Given the description of an element on the screen output the (x, y) to click on. 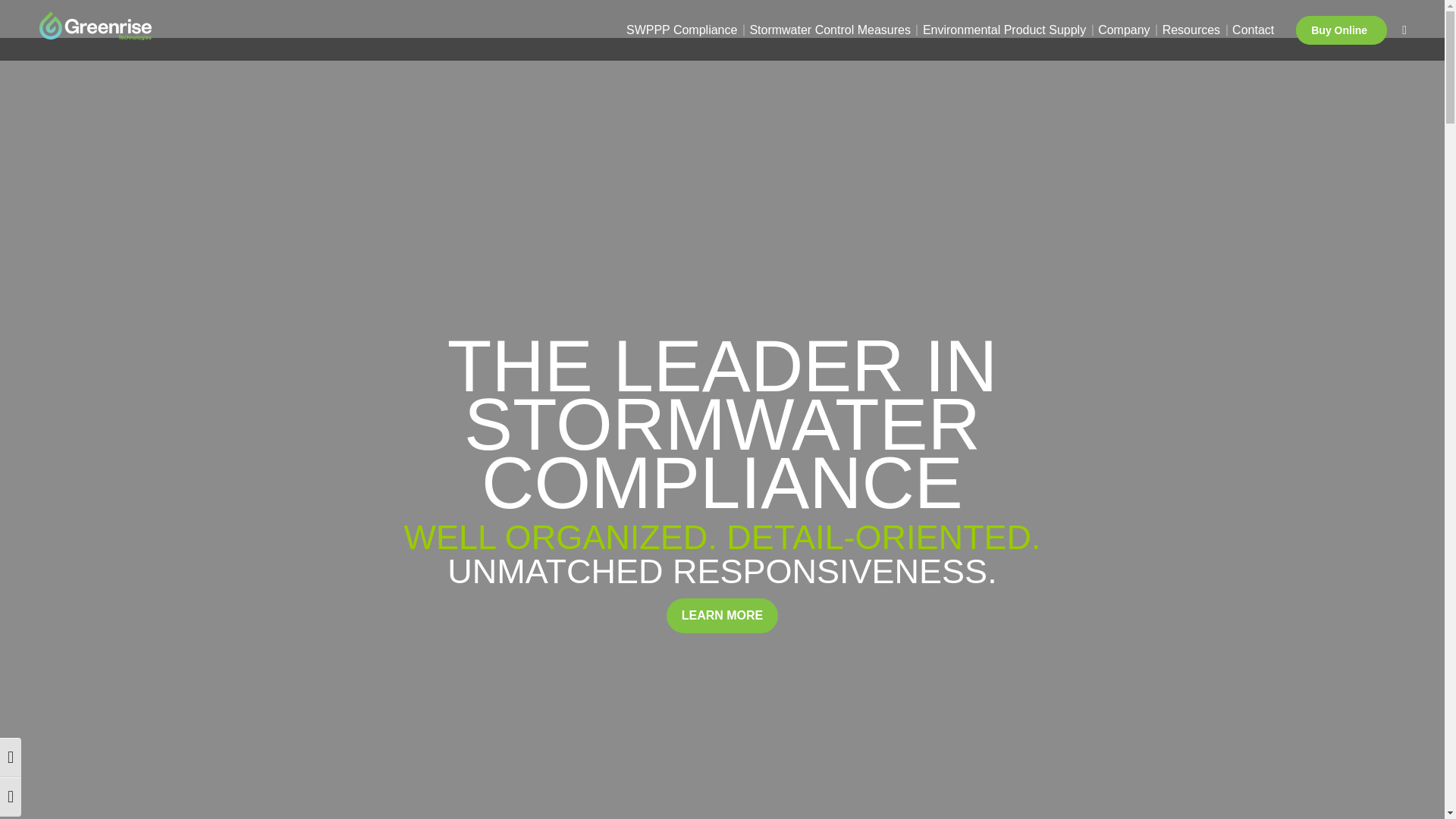
SWPPP Compliance (681, 30)
Stormwater Control Measures (829, 30)
Environmental Product Supply (1004, 30)
